Given the description of an element on the screen output the (x, y) to click on. 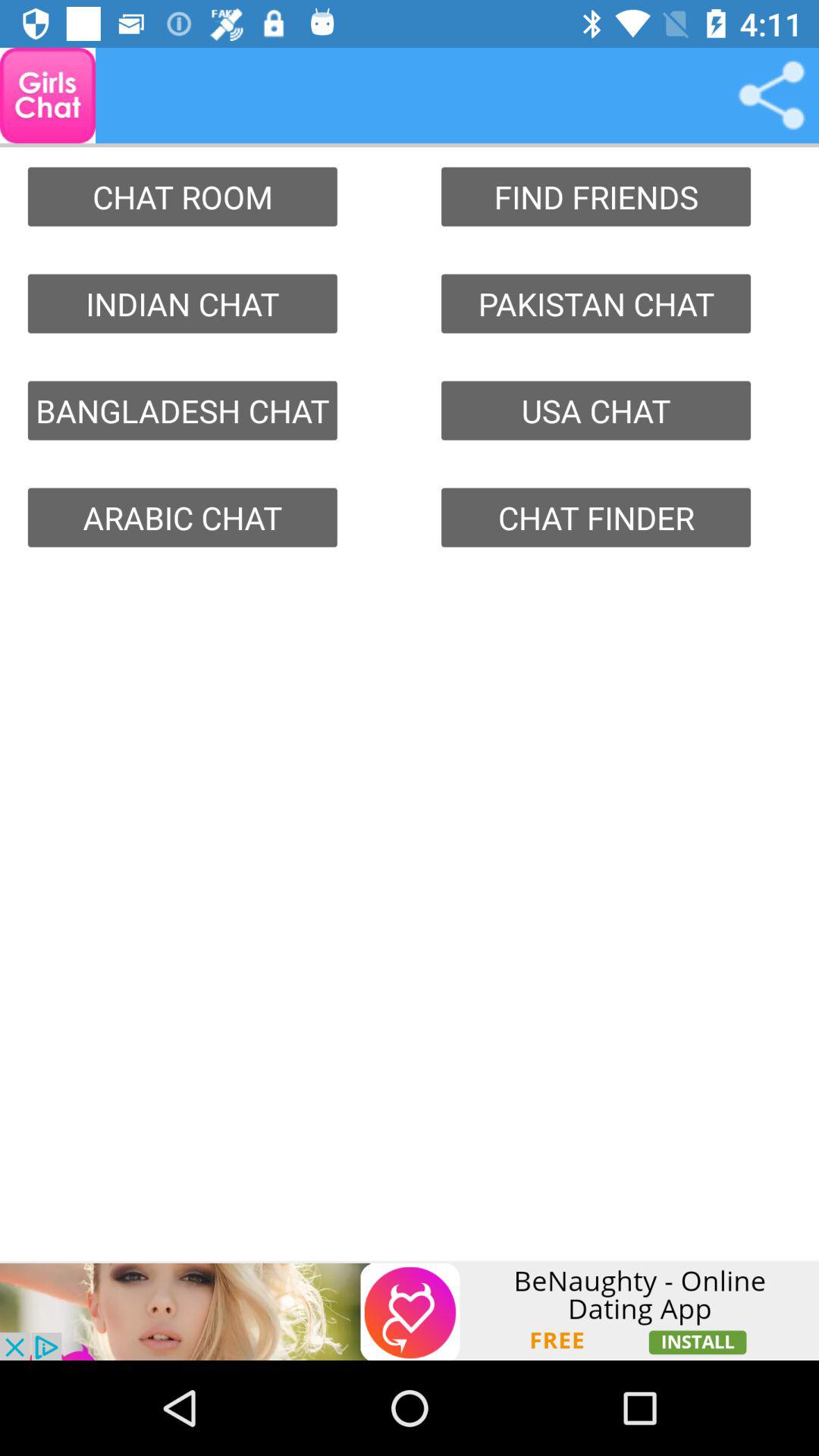
share the option (771, 95)
